Given the description of an element on the screen output the (x, y) to click on. 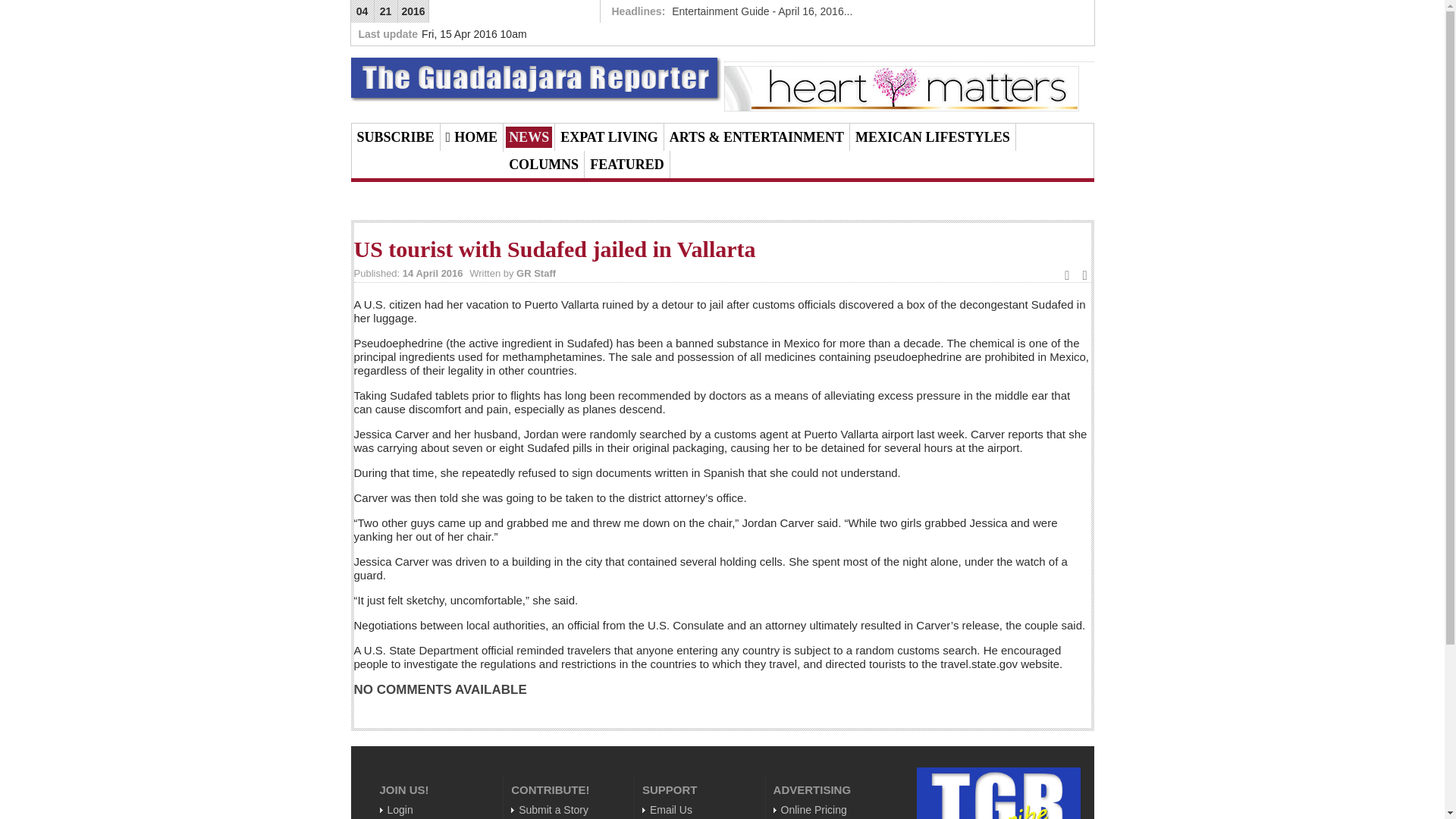
The Guadalajara Reporter (535, 79)
NEWS (528, 137)
Email (1084, 274)
Print (1067, 274)
Lakeside Cardiology (900, 87)
SUBSCRIBE (394, 137)
Entertainment Guide - April 16, 2016... (762, 10)
HOME (471, 137)
